Given the description of an element on the screen output the (x, y) to click on. 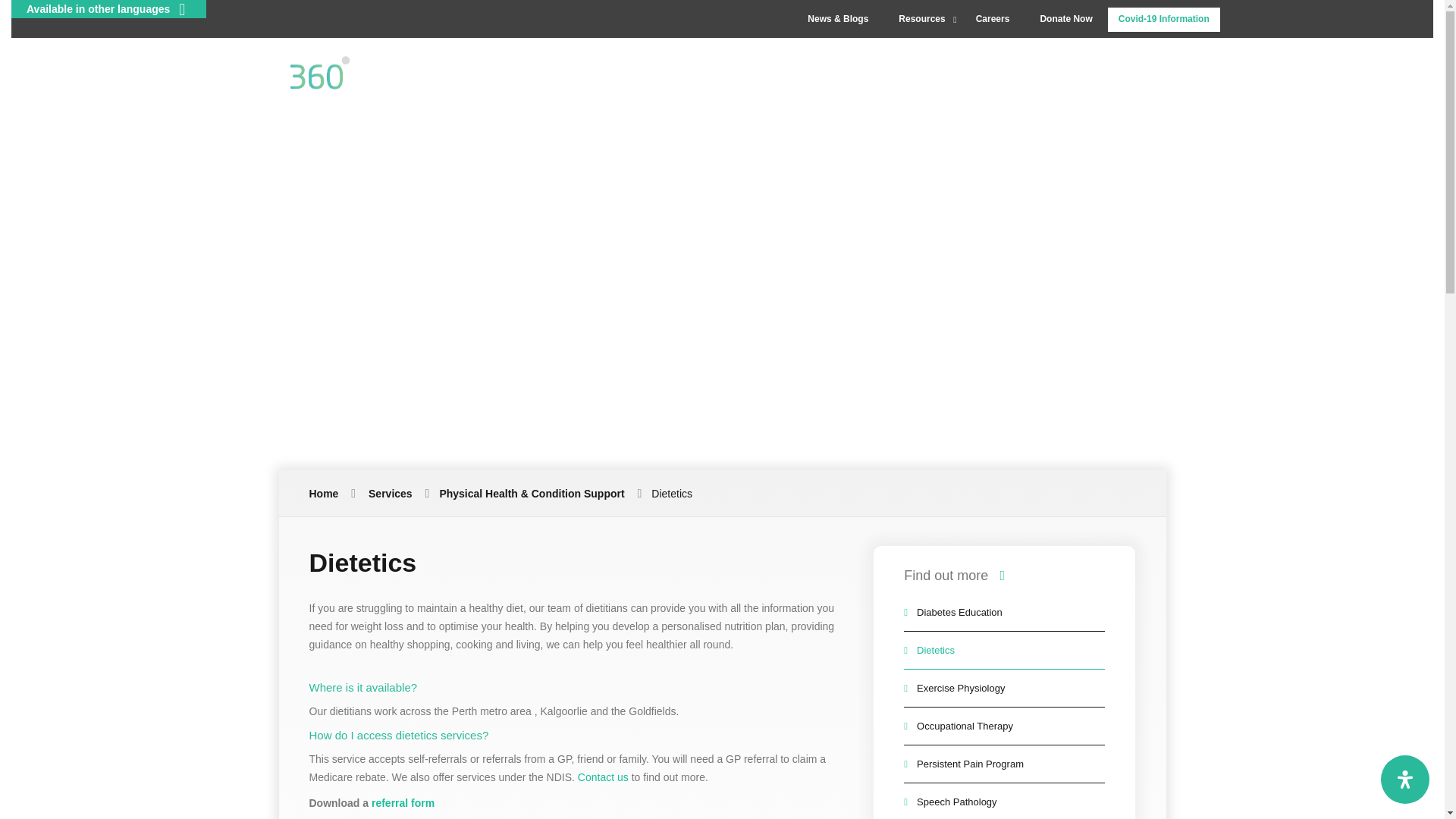
Home (817, 57)
Available in other languages (108, 9)
About Us (885, 57)
Services (976, 57)
